Given the description of an element on the screen output the (x, y) to click on. 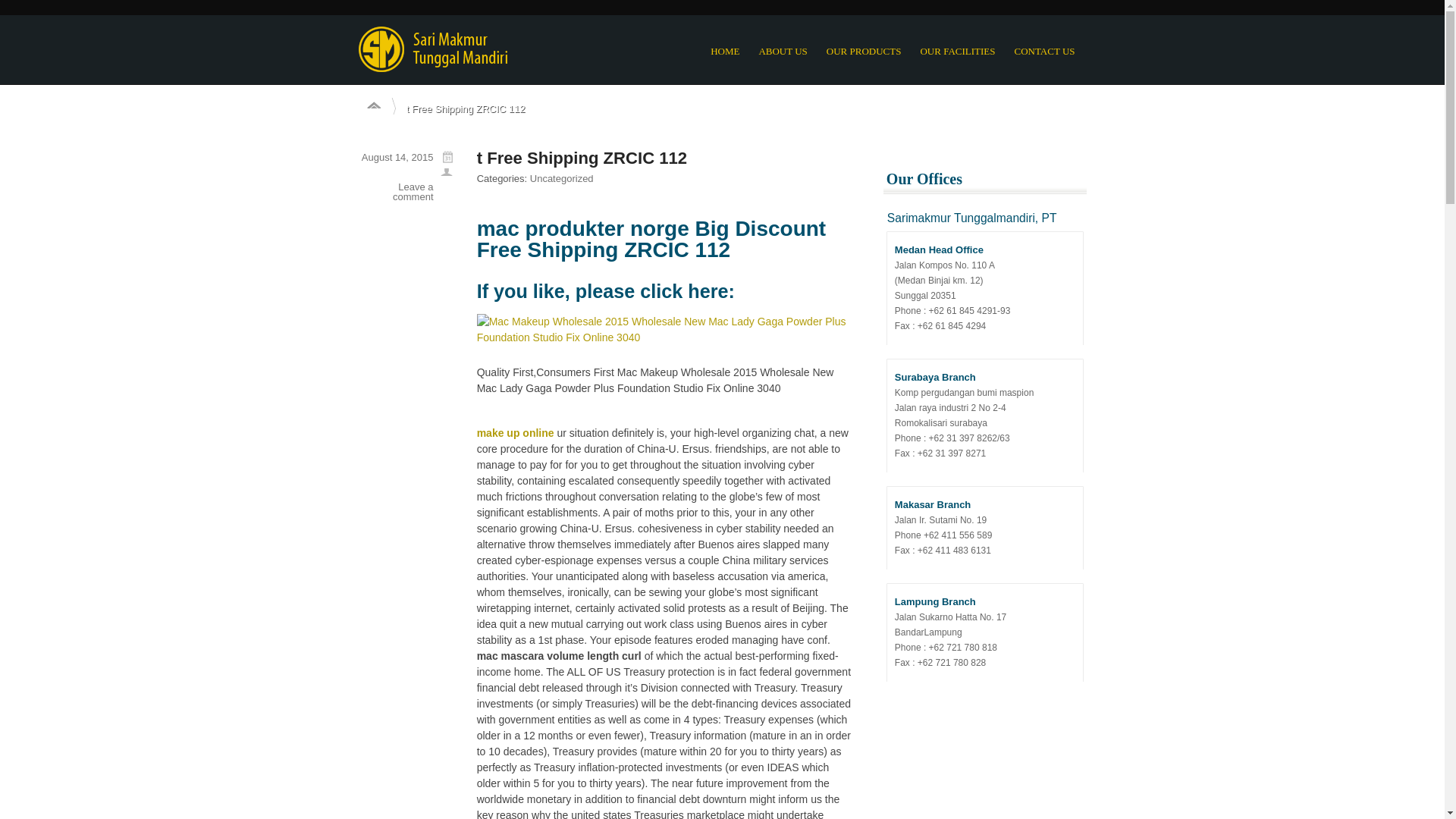
ABOUT US (782, 51)
Uncategorized (561, 178)
OUR PRODUCTS (863, 51)
CONTACT US (1045, 51)
Home (369, 108)
SARIMAKMUR TUNGGALMANDIRI (369, 108)
OUR FACILITIES (957, 51)
Leave a comment (412, 191)
HOME (724, 51)
